Given the description of an element on the screen output the (x, y) to click on. 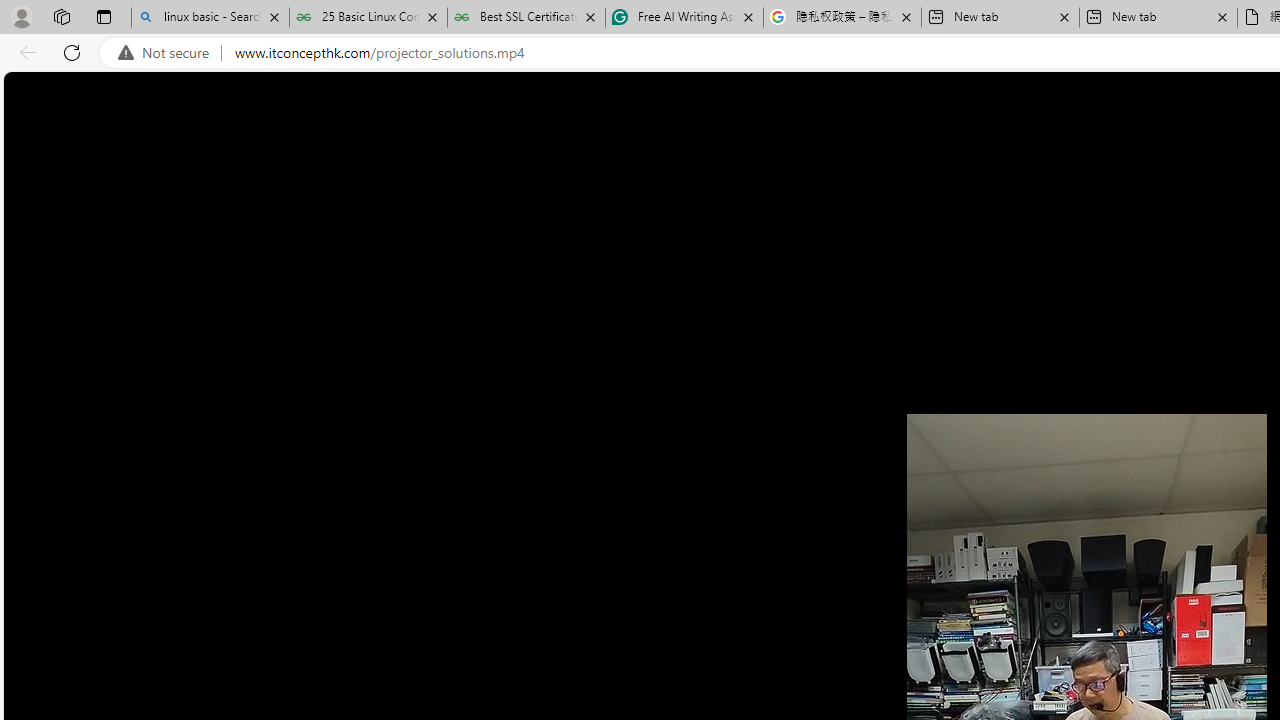
Not secure (168, 53)
25 Basic Linux Commands For Beginners - GeeksforGeeks (368, 17)
linux basic - Search (210, 17)
Free AI Writing Assistance for Students | Grammarly (683, 17)
Best SSL Certificates Provider in India - GeeksforGeeks (526, 17)
